Given the description of an element on the screen output the (x, y) to click on. 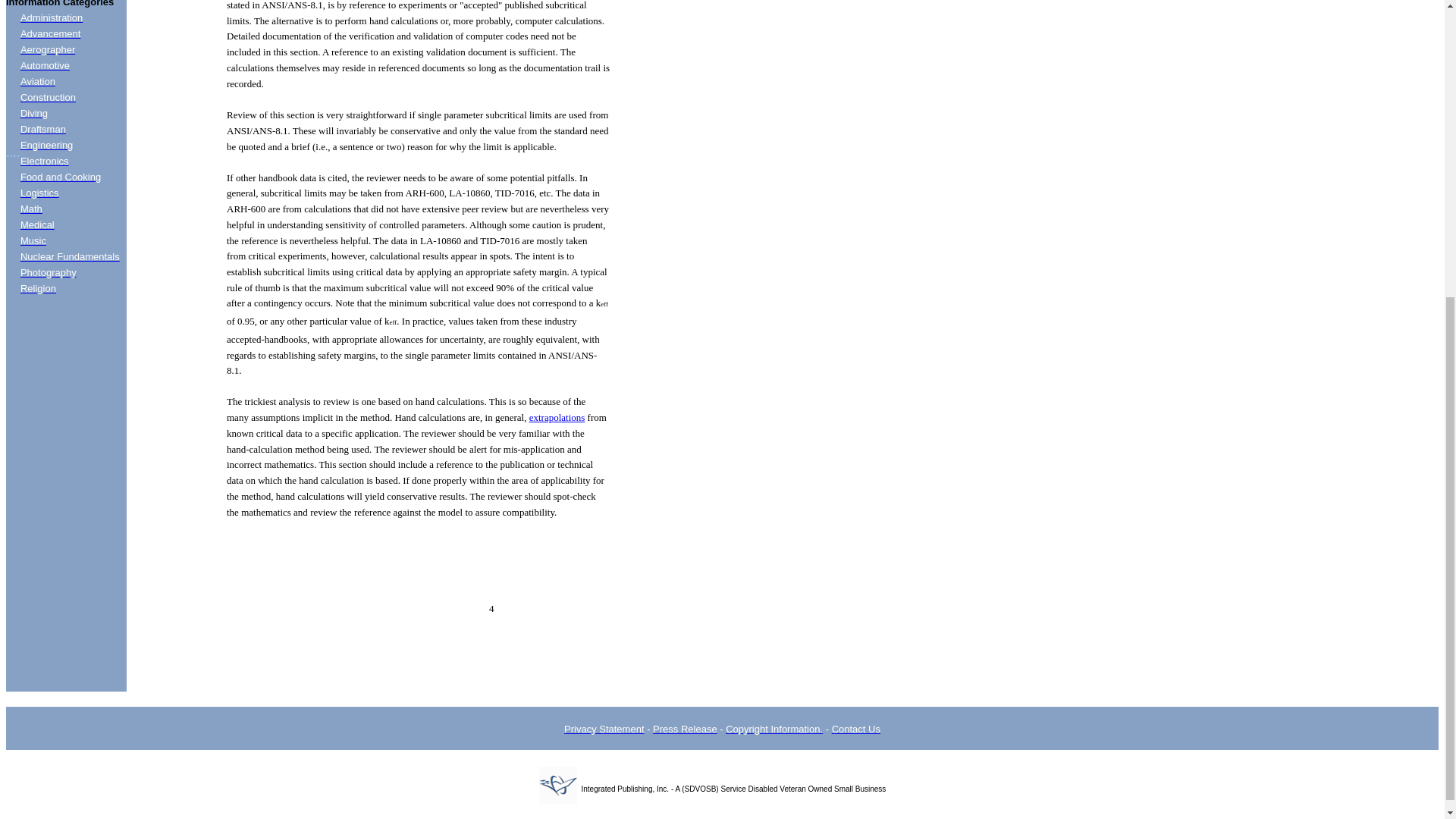
Logistics (39, 193)
Music (33, 240)
Food and Cooking (60, 176)
Engineering (46, 144)
Medical (37, 224)
Math (31, 208)
Copyright Information. (773, 728)
Contact Us (855, 728)
Draftsman (42, 129)
Advancement (50, 33)
Diving (34, 112)
Aviation (37, 81)
Aerographer (47, 49)
Religion (38, 288)
Electronics (44, 161)
